Given the description of an element on the screen output the (x, y) to click on. 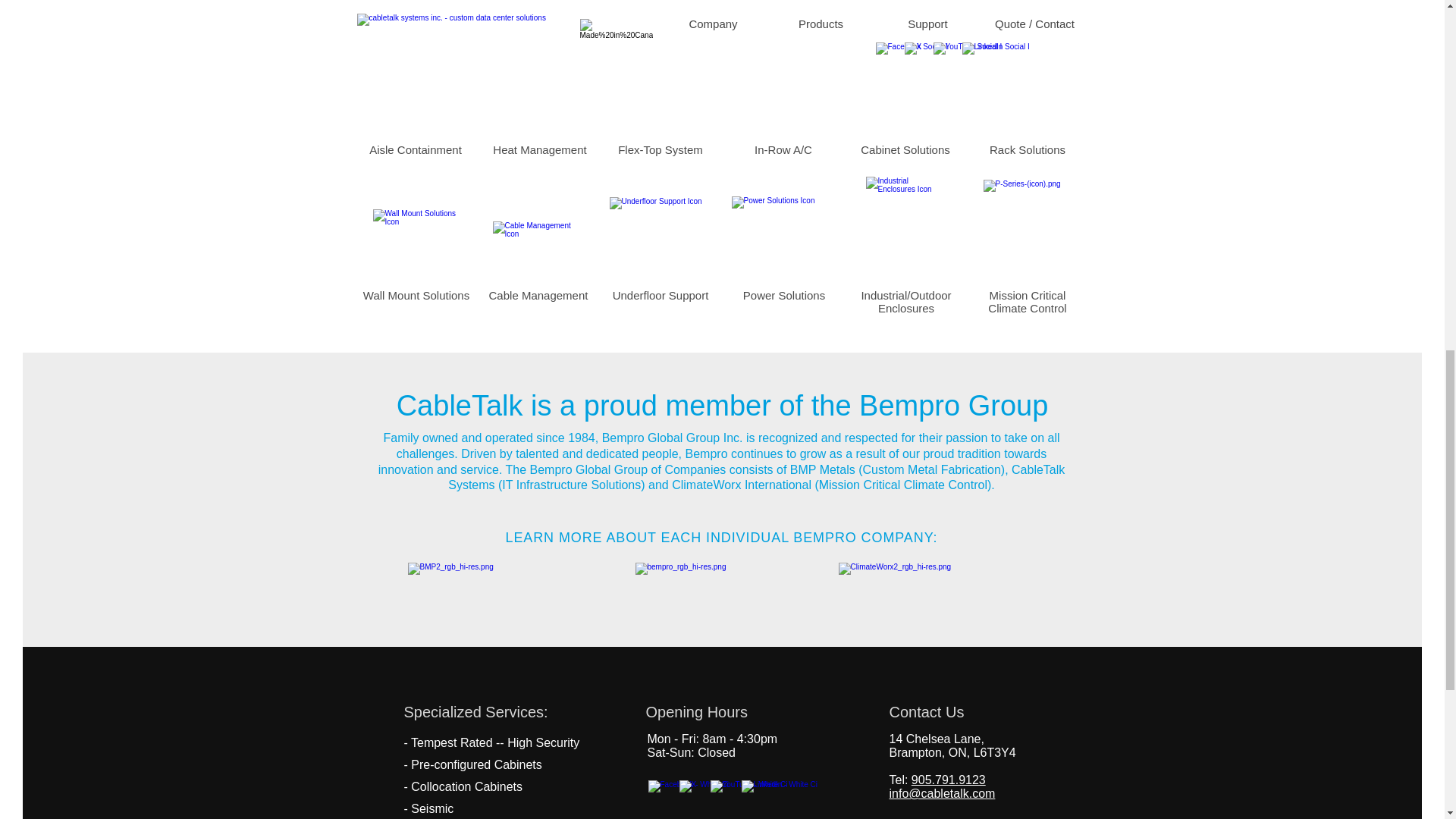
Underfloor Support (660, 238)
ClimateWorx (938, 586)
Cable Management (539, 246)
BMP Metals Inc. (499, 586)
Power Solutions (782, 238)
Wall Mount Solutions (416, 242)
Bempro Global Group (712, 586)
Flex-Top System (660, 81)
